Given the description of an element on the screen output the (x, y) to click on. 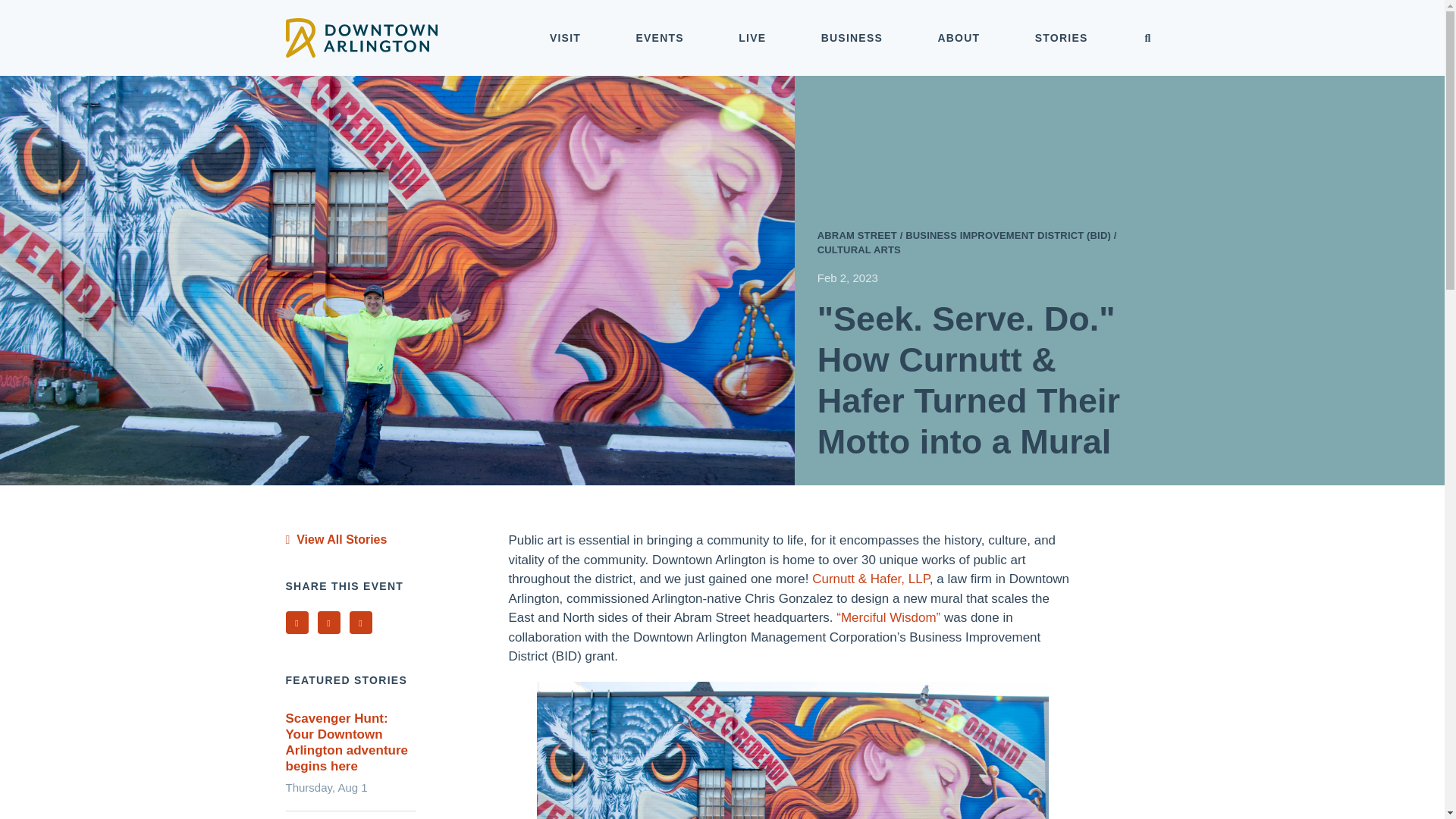
ABOUT (958, 38)
EVENTS (659, 38)
BUSINESS (851, 38)
VISIT (565, 38)
LIVE (752, 38)
